Given the description of an element on the screen output the (x, y) to click on. 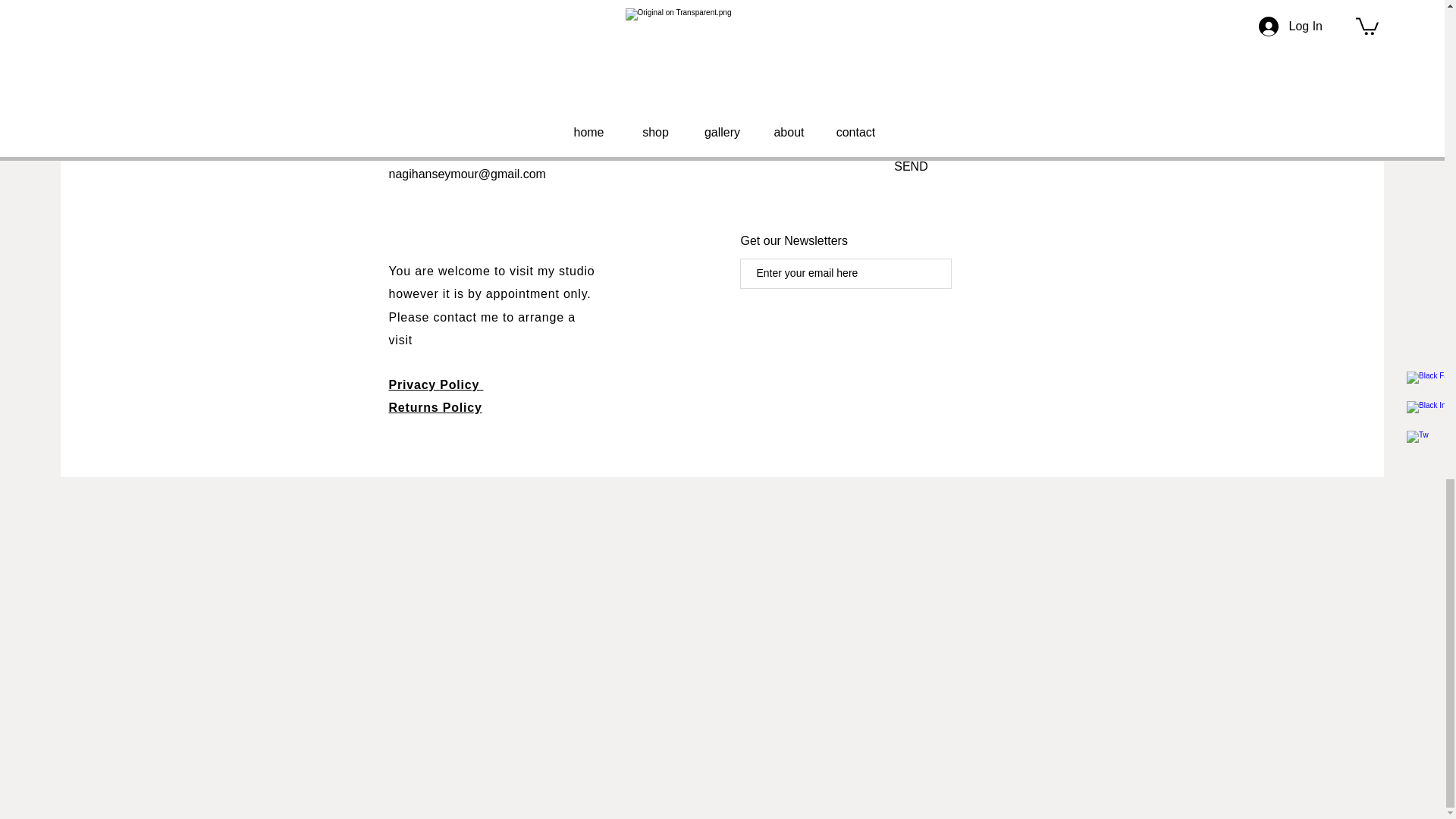
Privacy Policy  (435, 384)
SEND (910, 166)
Returns Policy (434, 407)
